Given the description of an element on the screen output the (x, y) to click on. 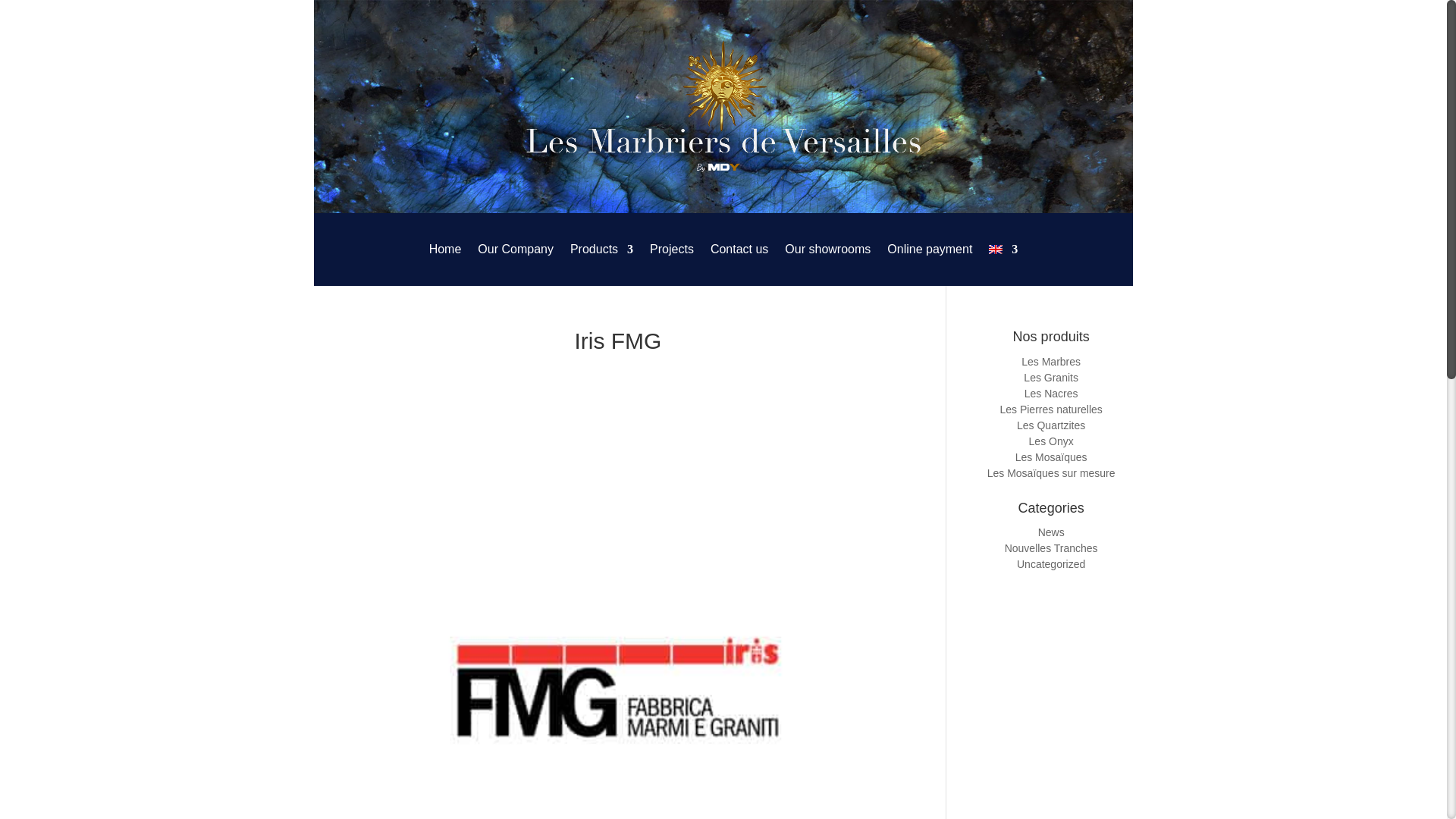
Products (601, 249)
Home (445, 249)
Our Company (515, 249)
